Given the description of an element on the screen output the (x, y) to click on. 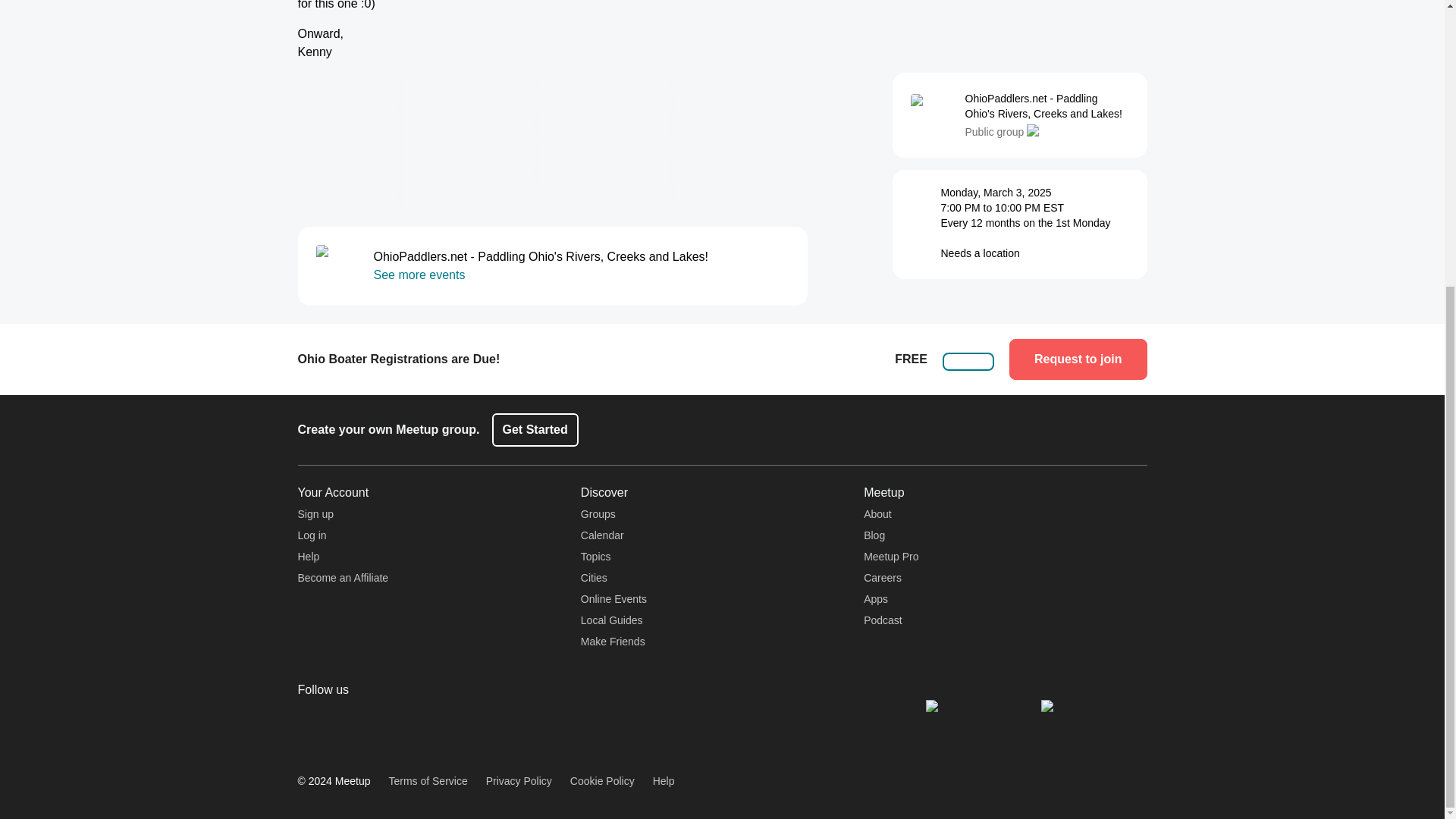
Terms of Service (427, 780)
Groups (597, 513)
Make Friends (612, 641)
Log in (311, 535)
Cookie Policy (602, 780)
Request to join (1078, 359)
Become an Affiliate (342, 577)
Online Events (613, 598)
Cities (593, 577)
Get Started (535, 429)
Apps (875, 598)
Blog (874, 535)
Privacy Policy (518, 780)
Careers (882, 577)
